Given the description of an element on the screen output the (x, y) to click on. 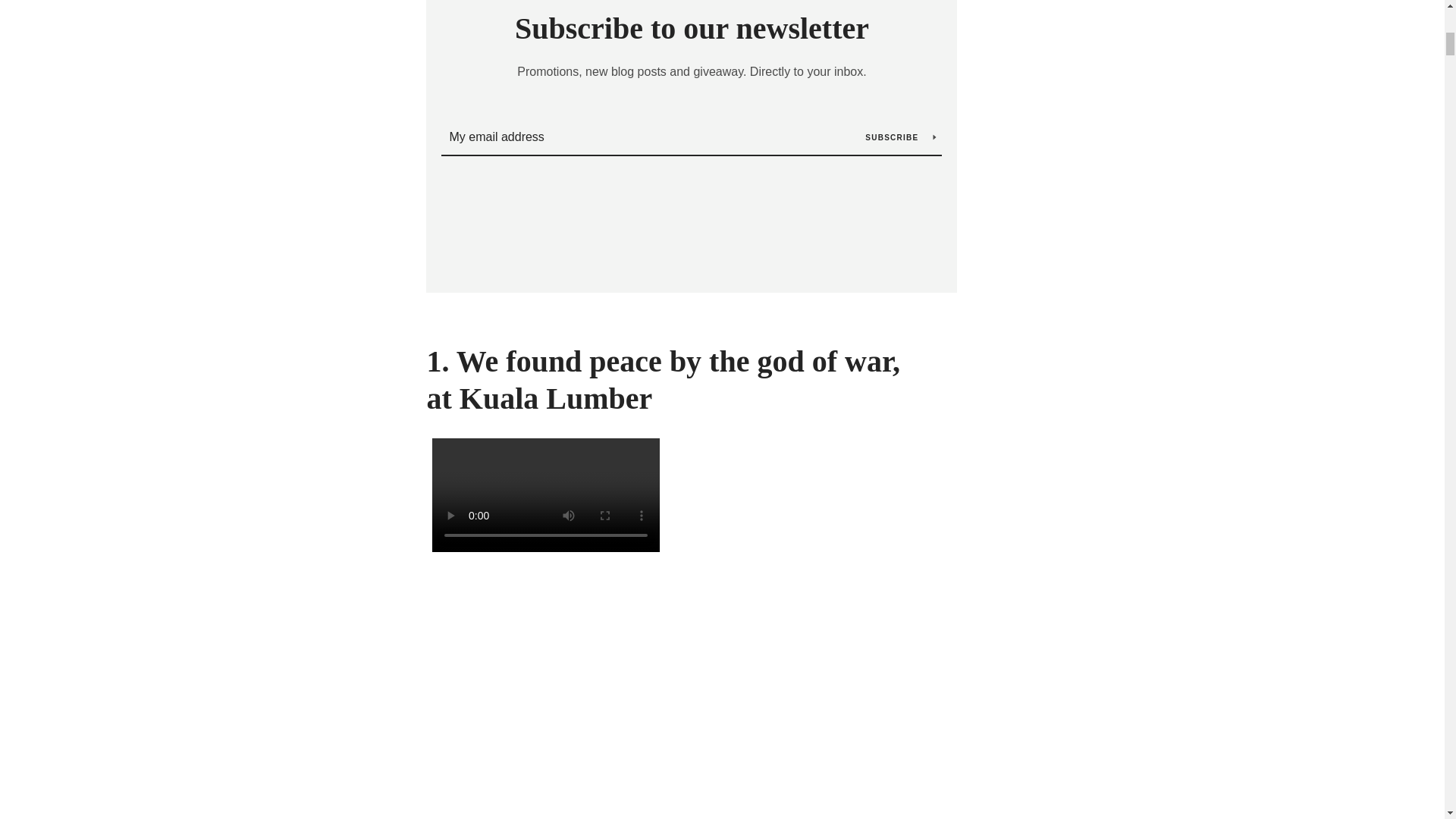
SUBSCRIBE (901, 137)
